Given the description of an element on the screen output the (x, y) to click on. 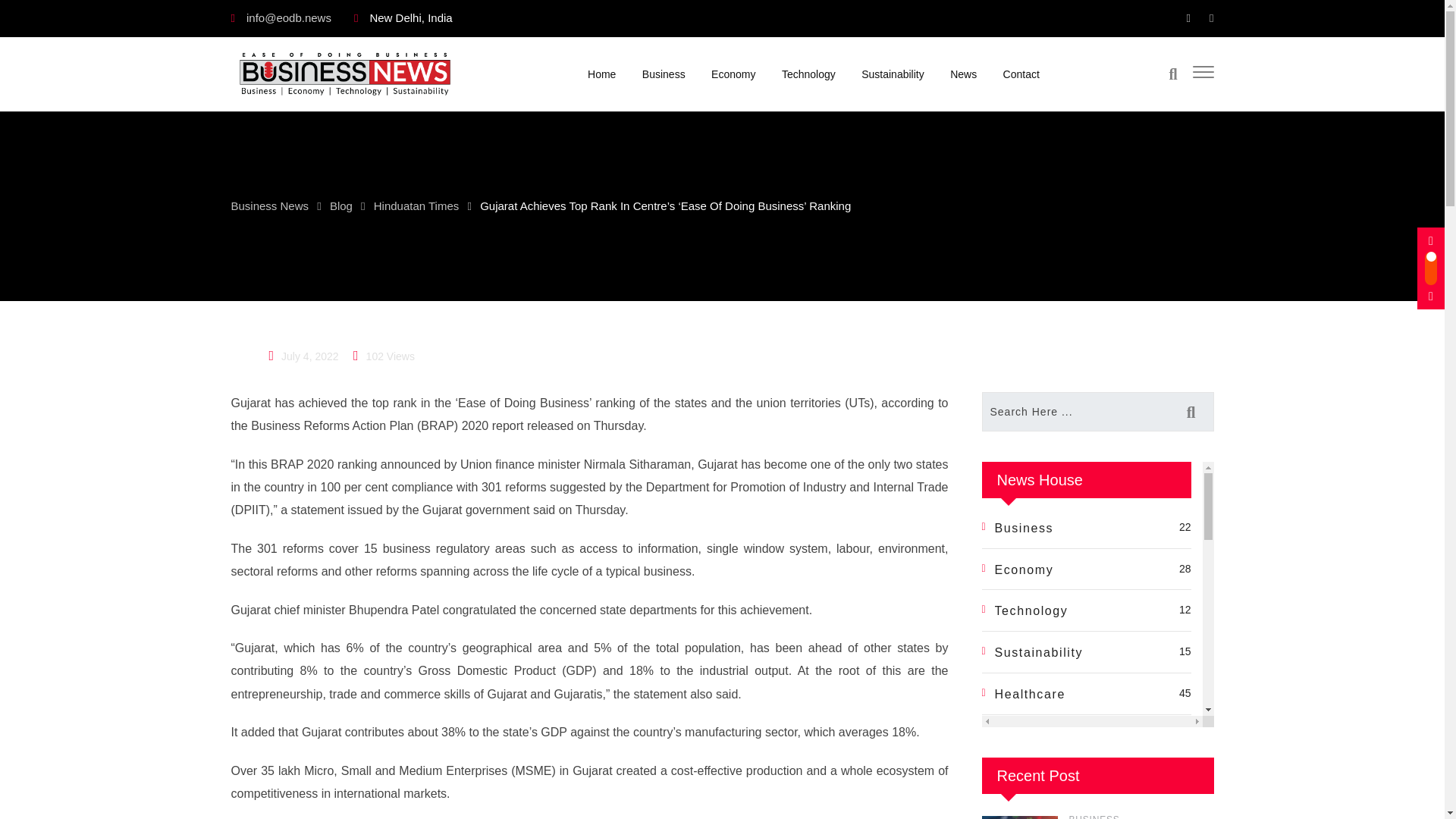
Economy (733, 73)
Sustainability (893, 73)
Business News (269, 205)
Blog (341, 205)
Technology (808, 73)
Go to Blog. (341, 205)
Hinduatan Times (417, 205)
Go to Business News. (269, 205)
Go to the Hinduatan Times Category archives. (417, 205)
